Given the description of an element on the screen output the (x, y) to click on. 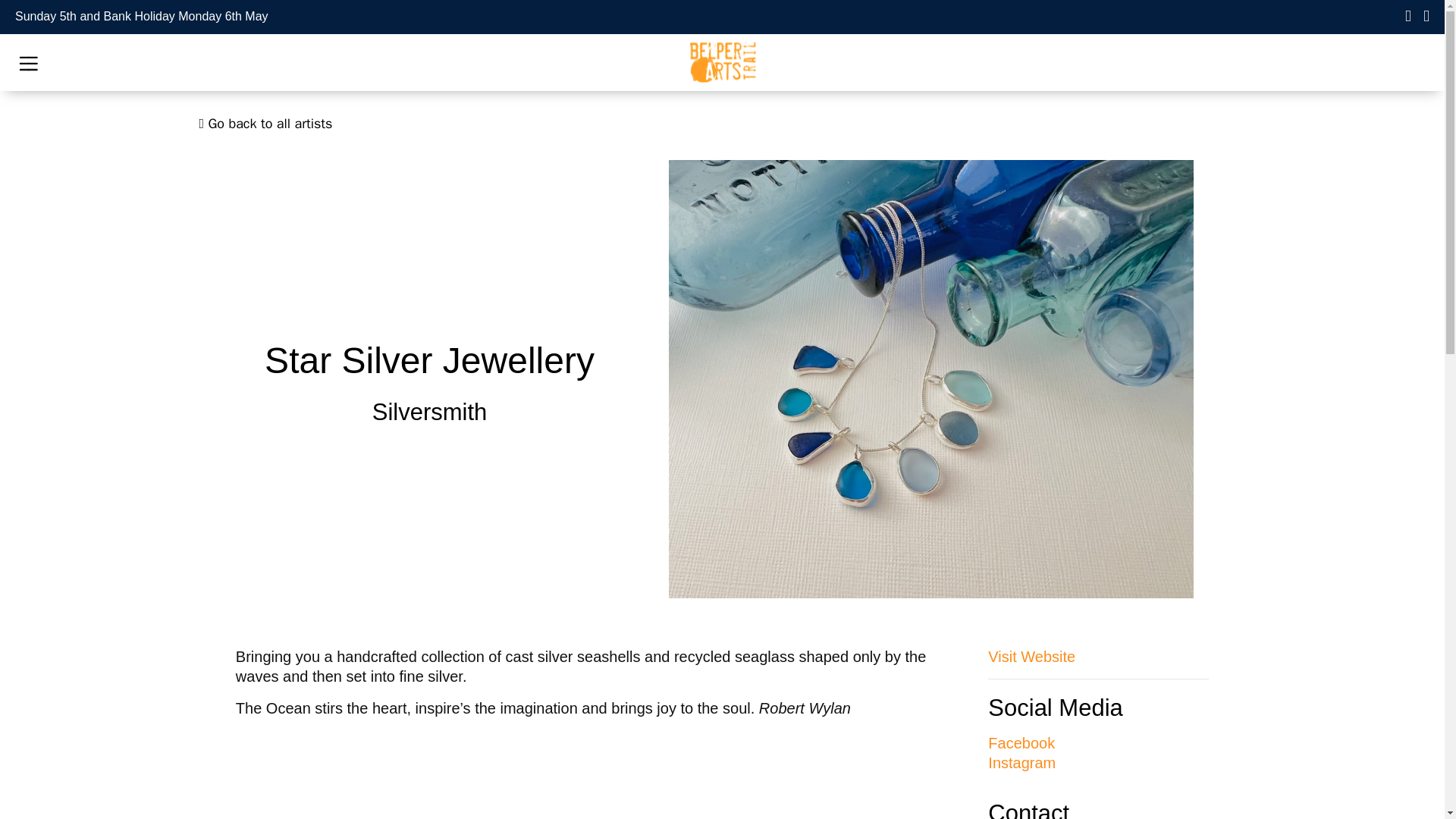
Visit Website (1031, 656)
Artists (264, 123)
Go back to all artists (264, 123)
Instagram (1021, 762)
Home (722, 62)
Facebook (1021, 742)
